Given the description of an element on the screen output the (x, y) to click on. 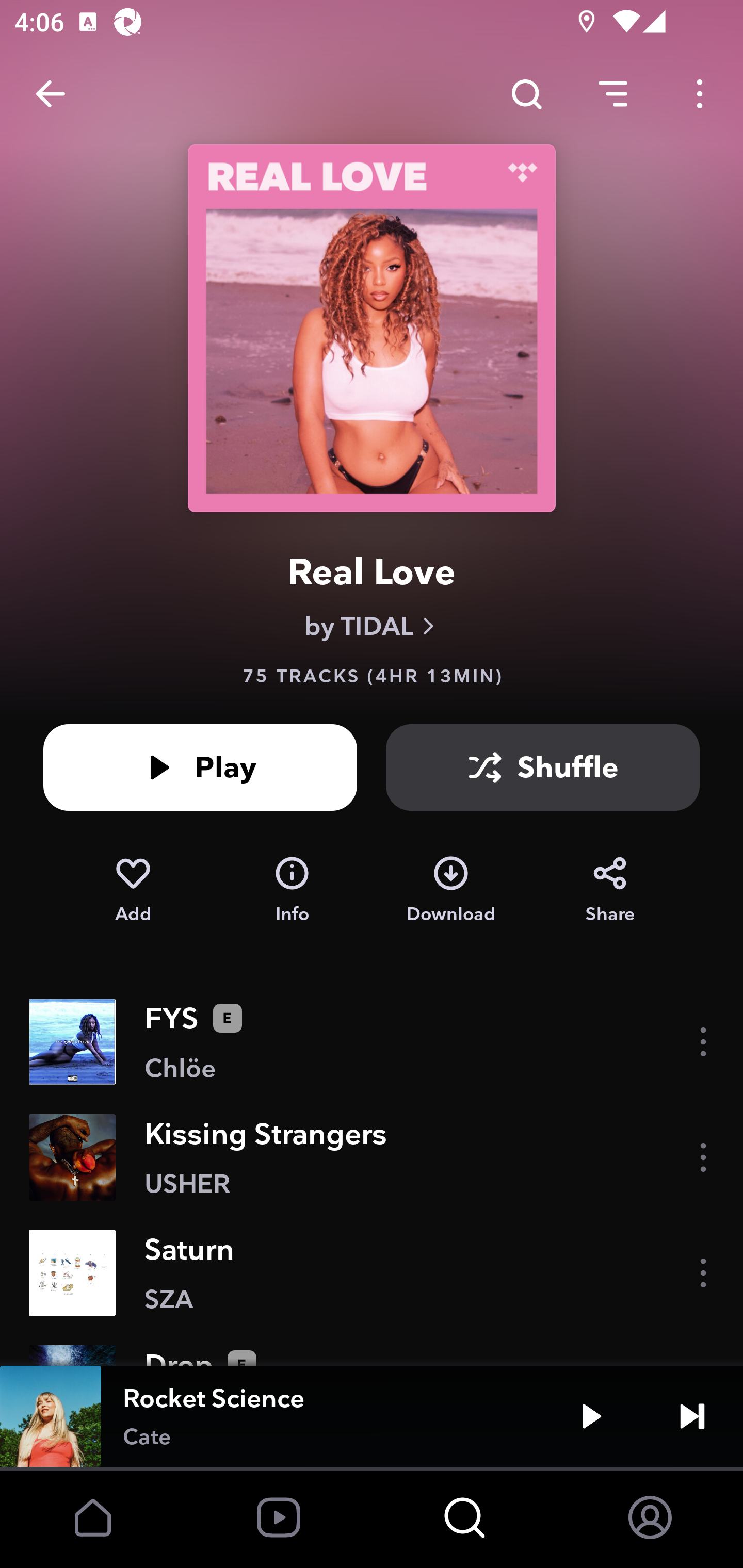
Back (50, 93)
Search (525, 93)
Sorting (612, 93)
Options (699, 93)
by TIDAL (371, 625)
Play (200, 767)
Shuffle (542, 767)
Add (132, 890)
Info (291, 890)
Download (450, 890)
Share (609, 890)
FYS Chlöe (371, 1041)
Kissing Strangers USHER (371, 1157)
Saturn SZA (371, 1273)
Rocket Science Cate Play (371, 1416)
Play (590, 1416)
